Given the description of an element on the screen output the (x, y) to click on. 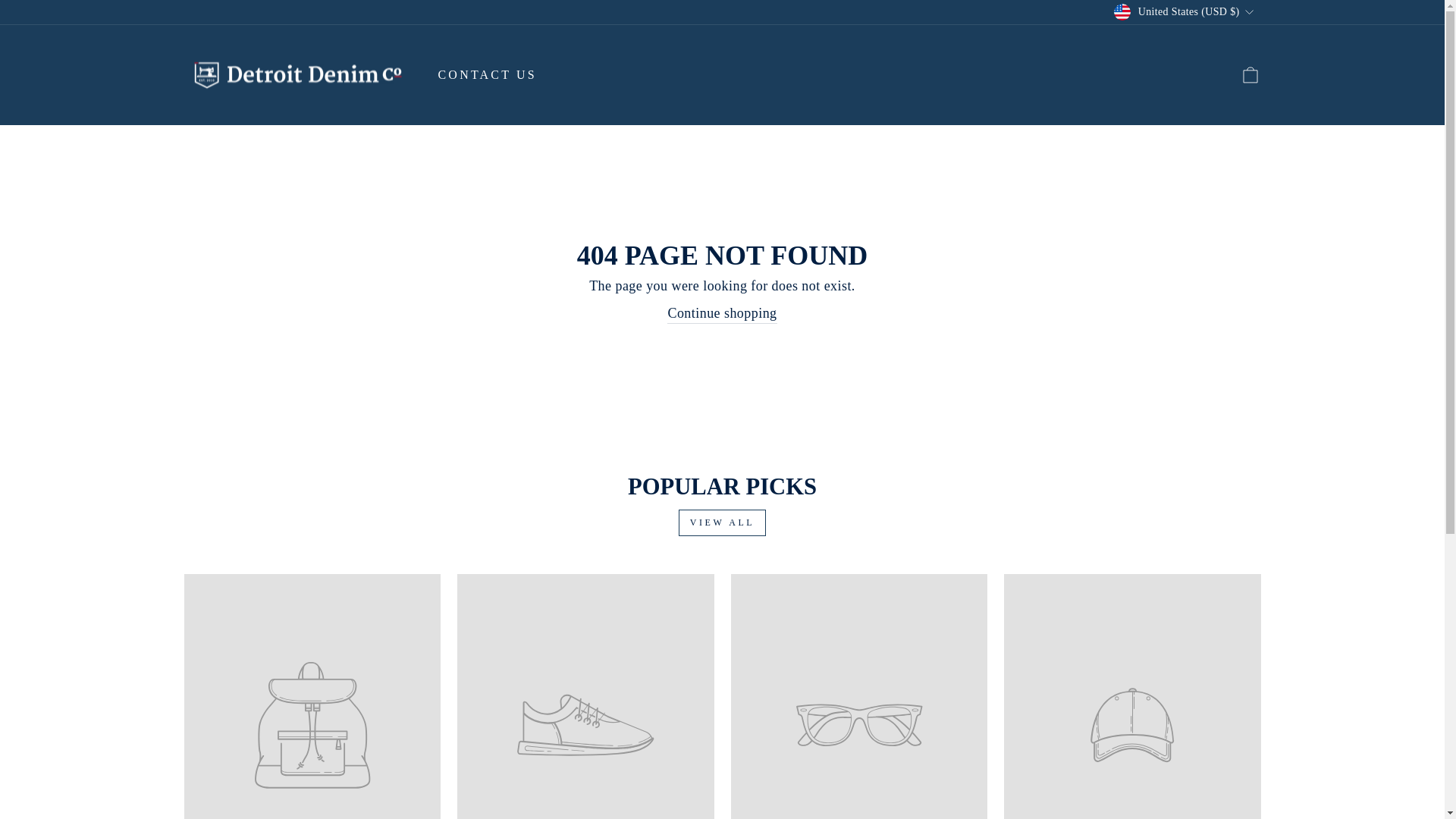
Continue shopping (721, 313)
CONTACT US (486, 74)
VIEW ALL (722, 522)
ICON-BAG-MINIMAL (1249, 74)
